Given the description of an element on the screen output the (x, y) to click on. 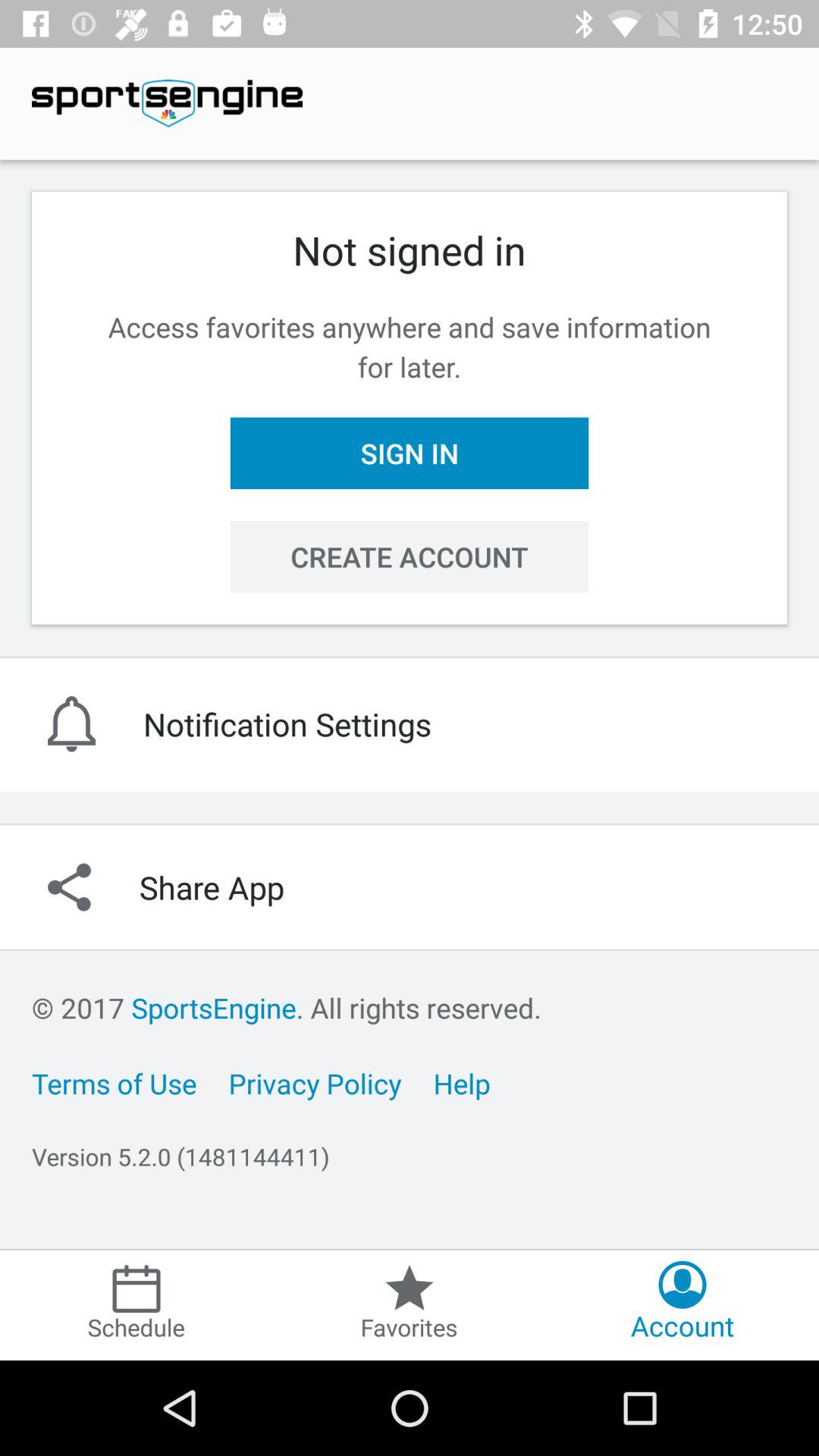
turn on item to the right of the terms of use icon (314, 1083)
